Given the description of an element on the screen output the (x, y) to click on. 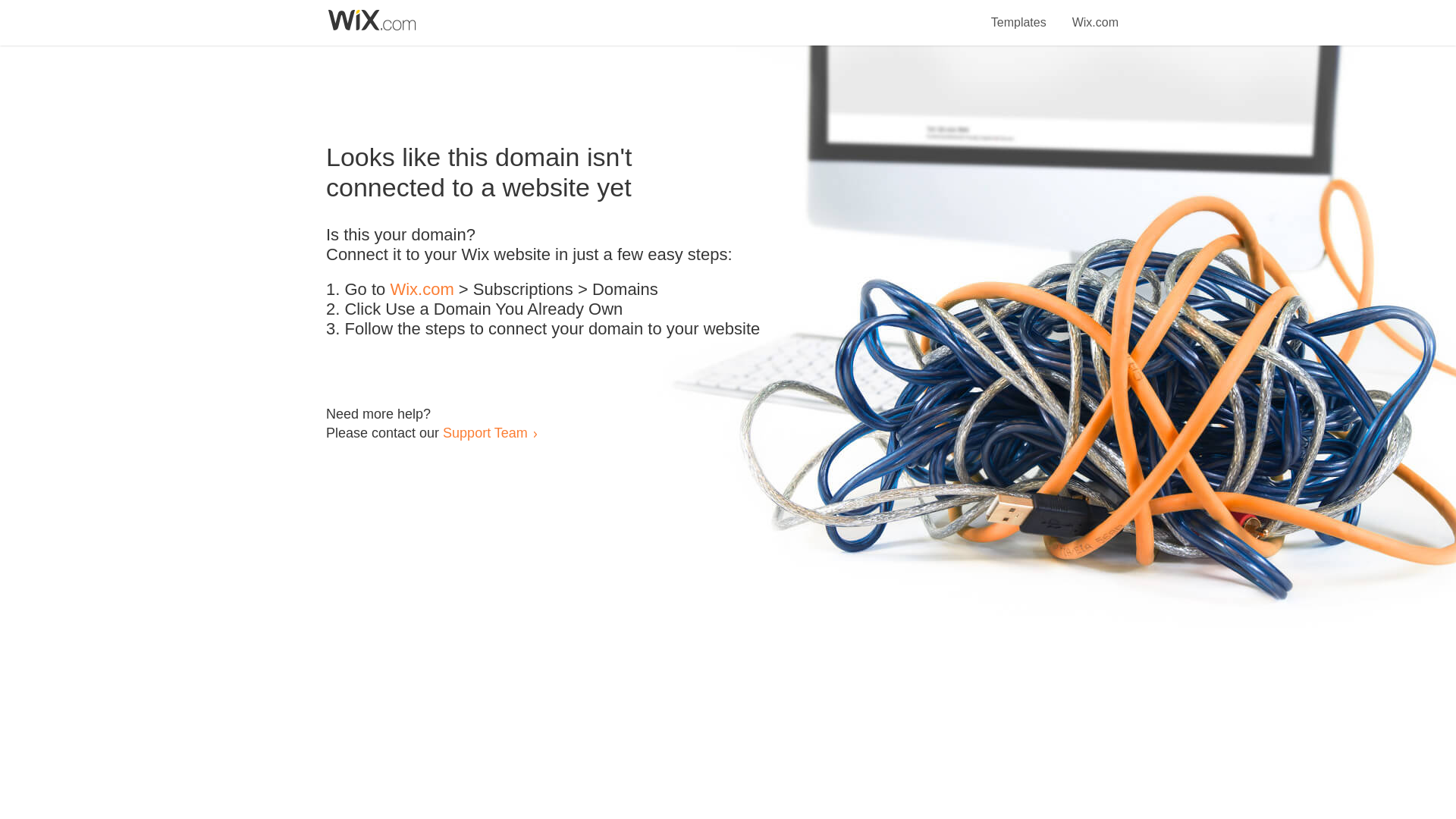
Wix.com (1095, 14)
Support Team (484, 432)
Templates (1018, 14)
Wix.com (421, 289)
